Given the description of an element on the screen output the (x, y) to click on. 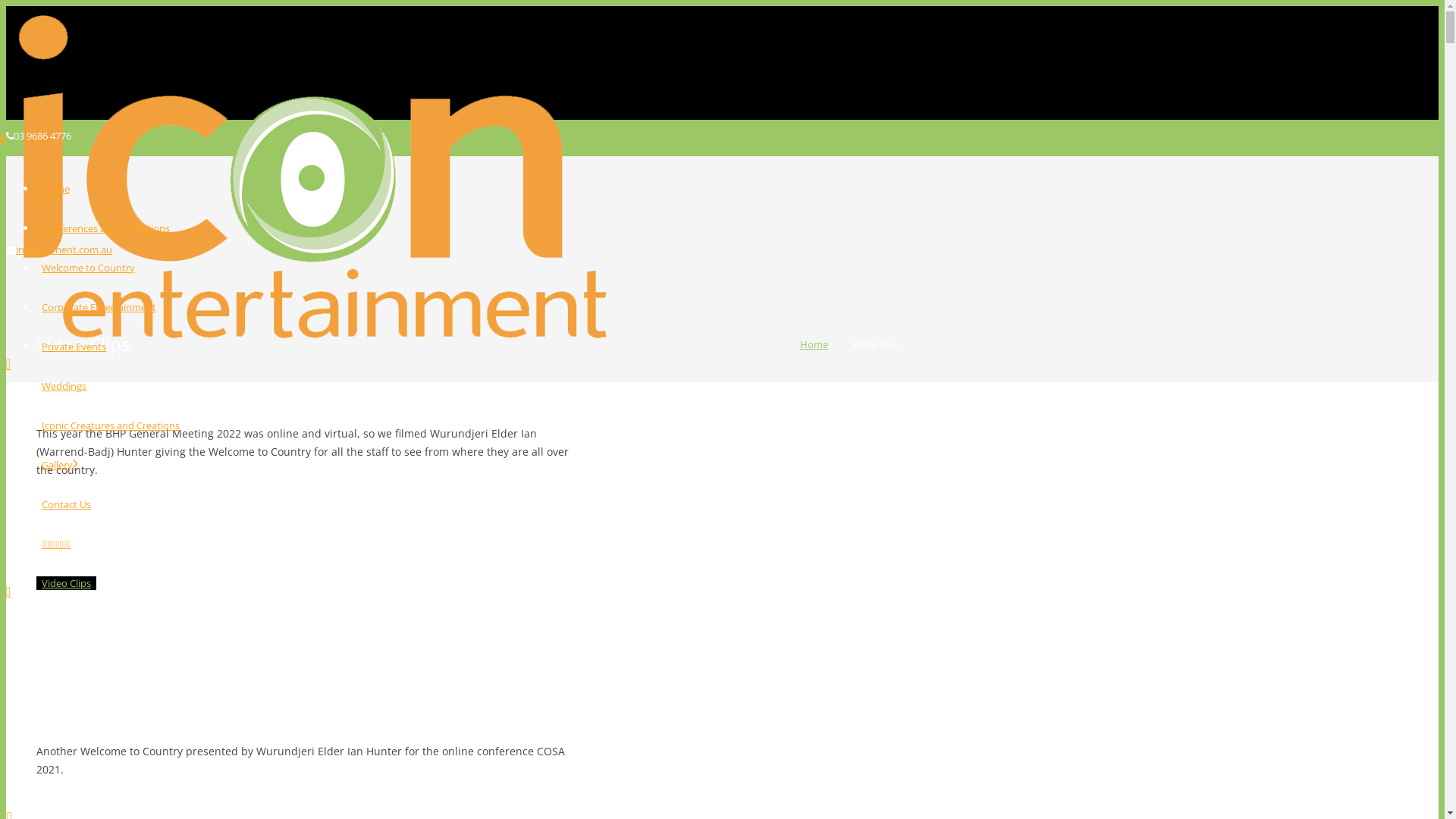
Contact Us Element type: text (66, 504)
Iconic Creatures and Creations Element type: text (110, 425)
Welcome to Country Element type: text (88, 267)
Corporate Entertainment Element type: text (98, 306)
Video Clips Element type: text (66, 582)
Private Events Element type: text (73, 346)
Weddings Element type: text (63, 385)
Home Element type: text (814, 344)
Home Element type: text (55, 188)
Conferences and Exhibitions Element type: text (105, 228)
info@iconent.com.au Element type: text (63, 249)
Gallery Element type: text (59, 464)
